Given the description of an element on the screen output the (x, y) to click on. 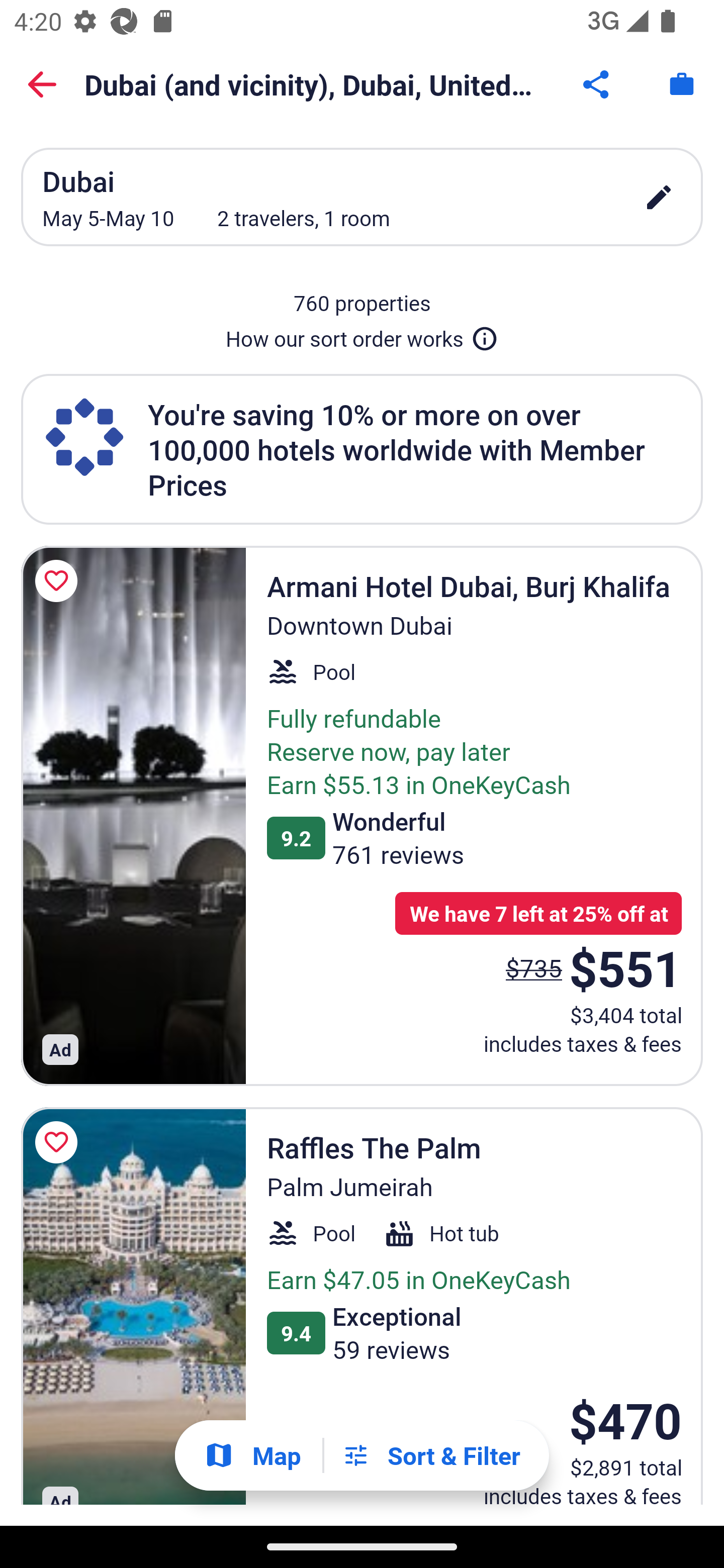
Back (42, 84)
Share Button (597, 84)
Trips. Button (681, 84)
Dubai May 5-May 10 2 travelers, 1 room edit (361, 196)
How our sort order works (361, 334)
Save Armani Hotel Dubai, Burj Khalifa to a trip (59, 580)
Armani Hotel Dubai, Burj Khalifa (133, 815)
$735 The price was $735 (533, 967)
Save Raffles The Palm to a trip (59, 1141)
Raffles The Palm (133, 1306)
Filters Sort & Filter Filters Button (430, 1455)
Show map Map Show map Button (252, 1455)
